Given the description of an element on the screen output the (x, y) to click on. 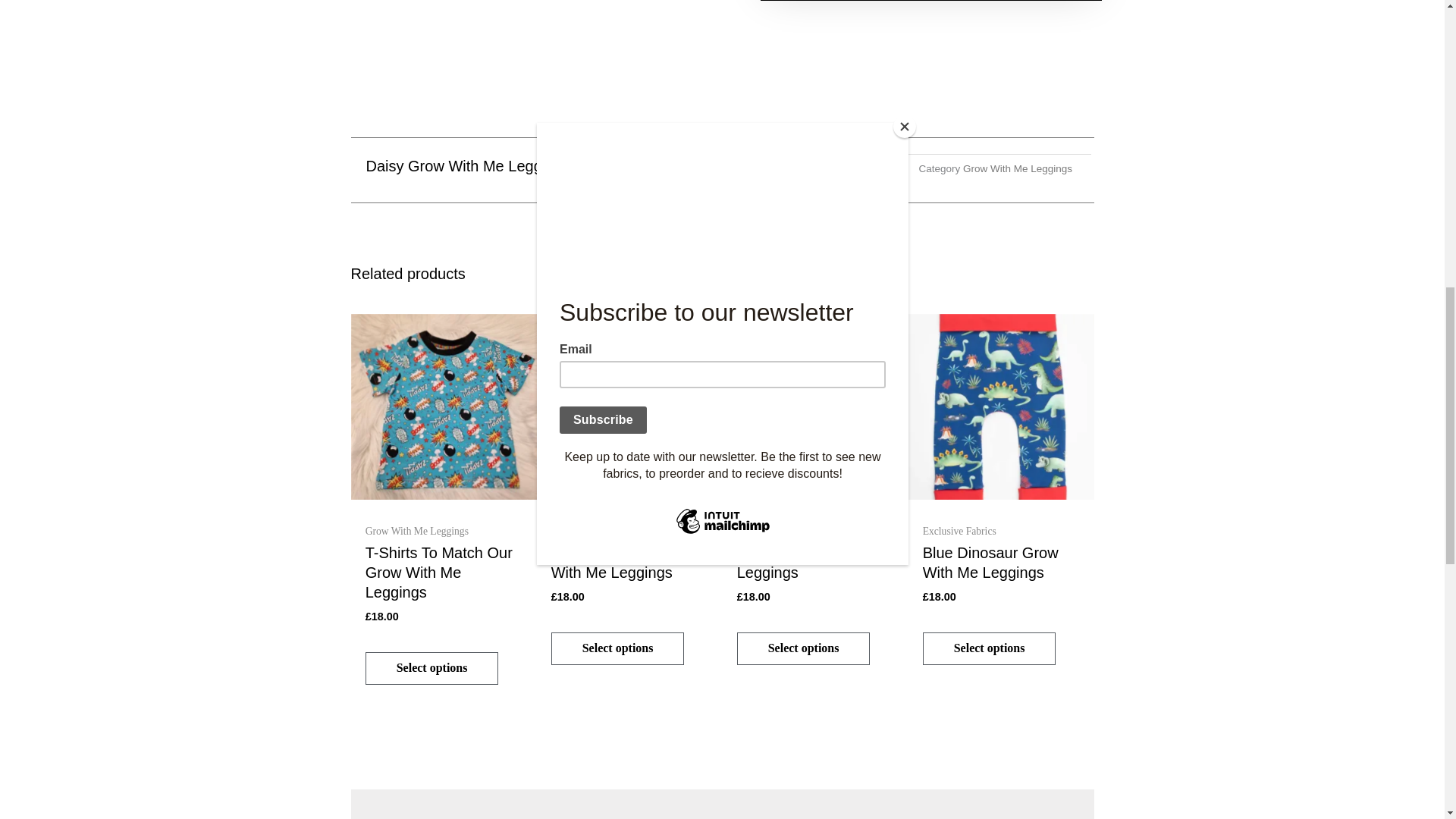
Select options (617, 648)
Select options (803, 648)
Select options (990, 648)
Blue Dinosaur Grow With Me Leggings (1001, 565)
Grow With Me Leggings (1016, 168)
T-Shirts To Match Our Grow With Me Leggings (443, 575)
Scottish Critters Grow With Me Leggings (629, 565)
Narwhal Grow With Me Leggings (814, 565)
Select options (432, 667)
